Given the description of an element on the screen output the (x, y) to click on. 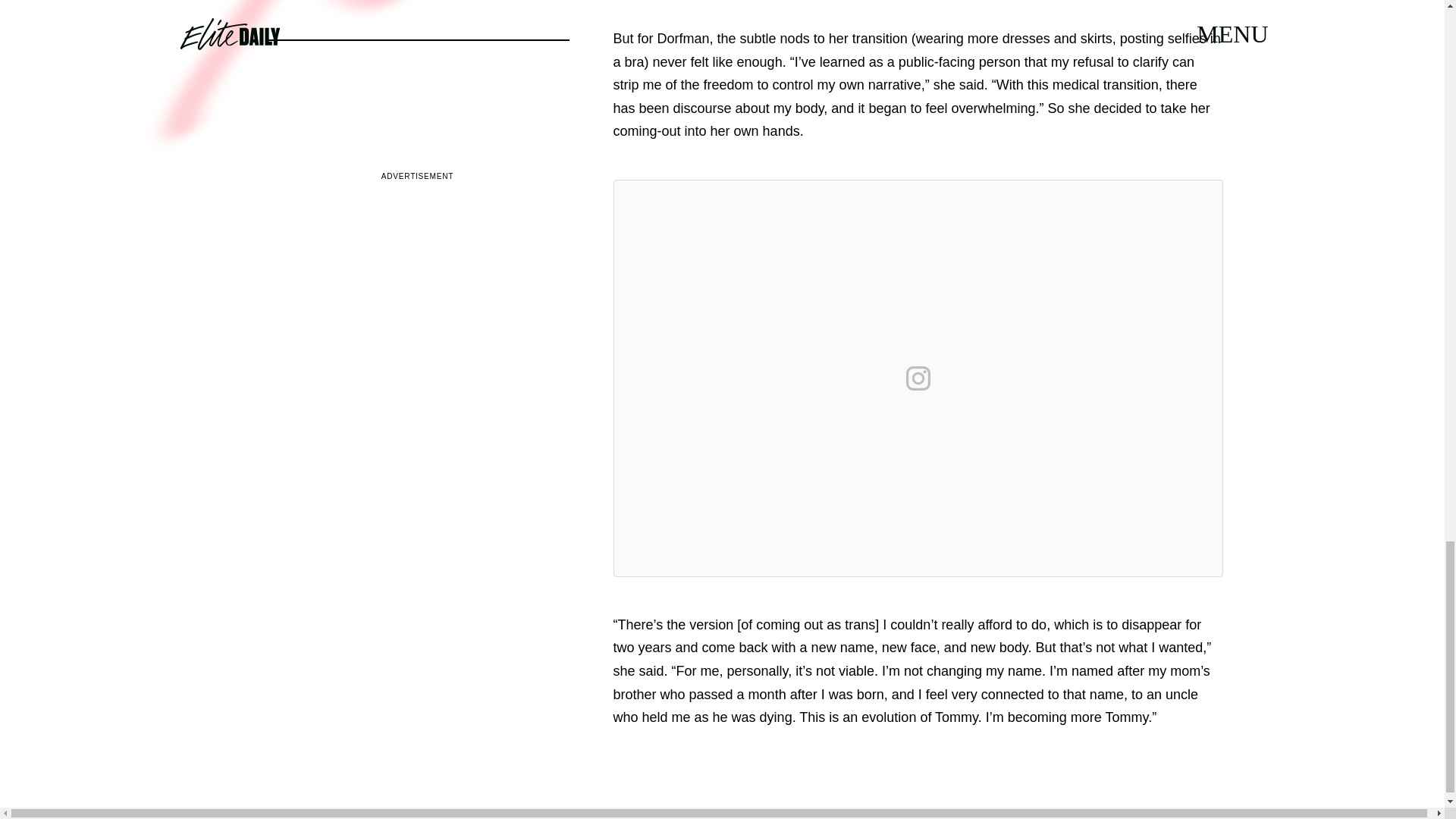
View on Instagram (917, 378)
